Given the description of an element on the screen output the (x, y) to click on. 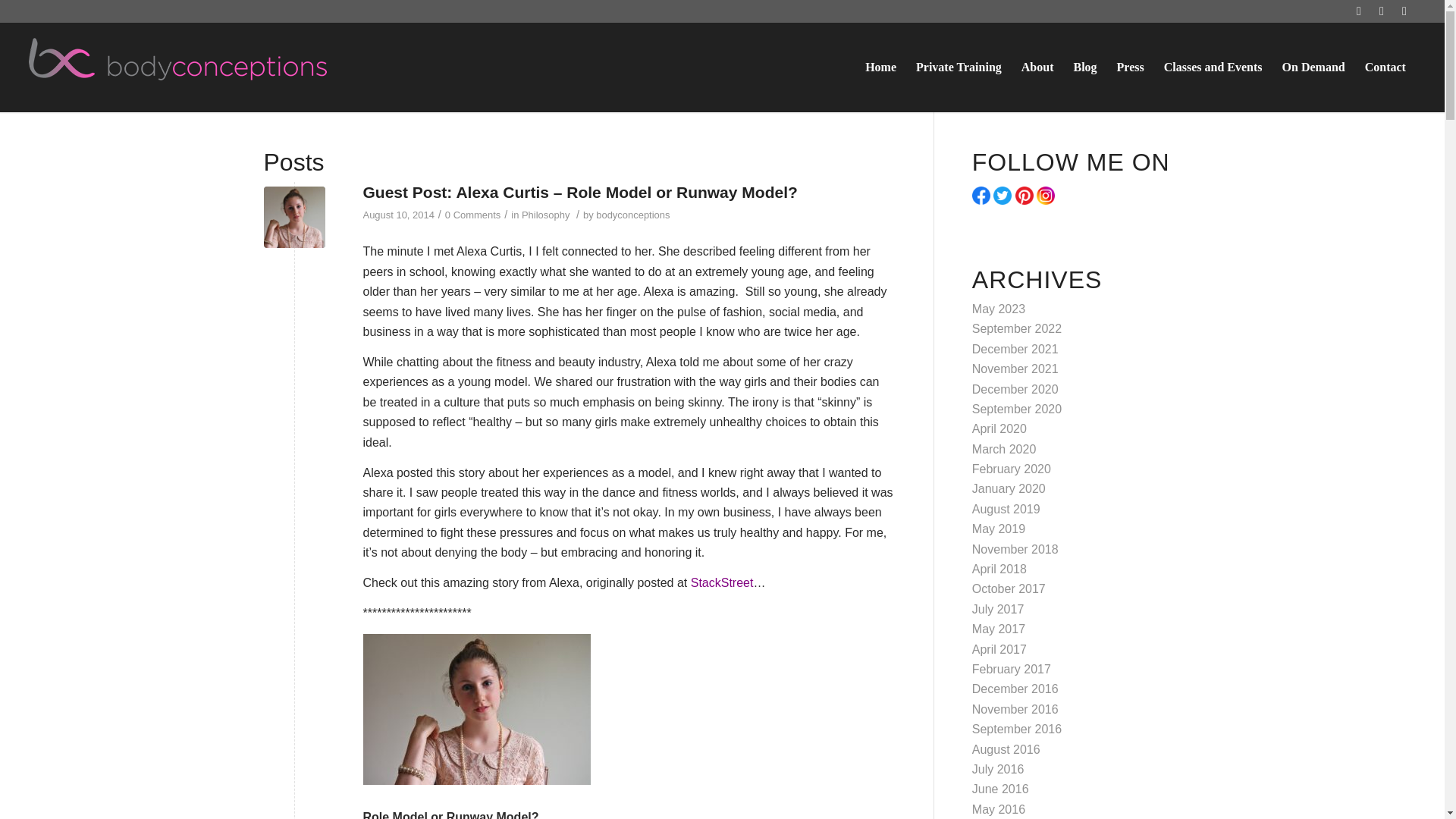
September 2022 (1016, 328)
February 2020 (1011, 468)
Contact (1385, 67)
Instagram (1359, 11)
0 Comments (472, 214)
March 2020 (1004, 449)
Posts by bodyconceptions (632, 214)
September 2020 (1016, 408)
April 2020 (999, 428)
November 2021 (1015, 368)
Home (880, 67)
January 2020 (1008, 488)
Private Training (958, 67)
Philosophy (545, 214)
December 2021 (1015, 349)
